Given the description of an element on the screen output the (x, y) to click on. 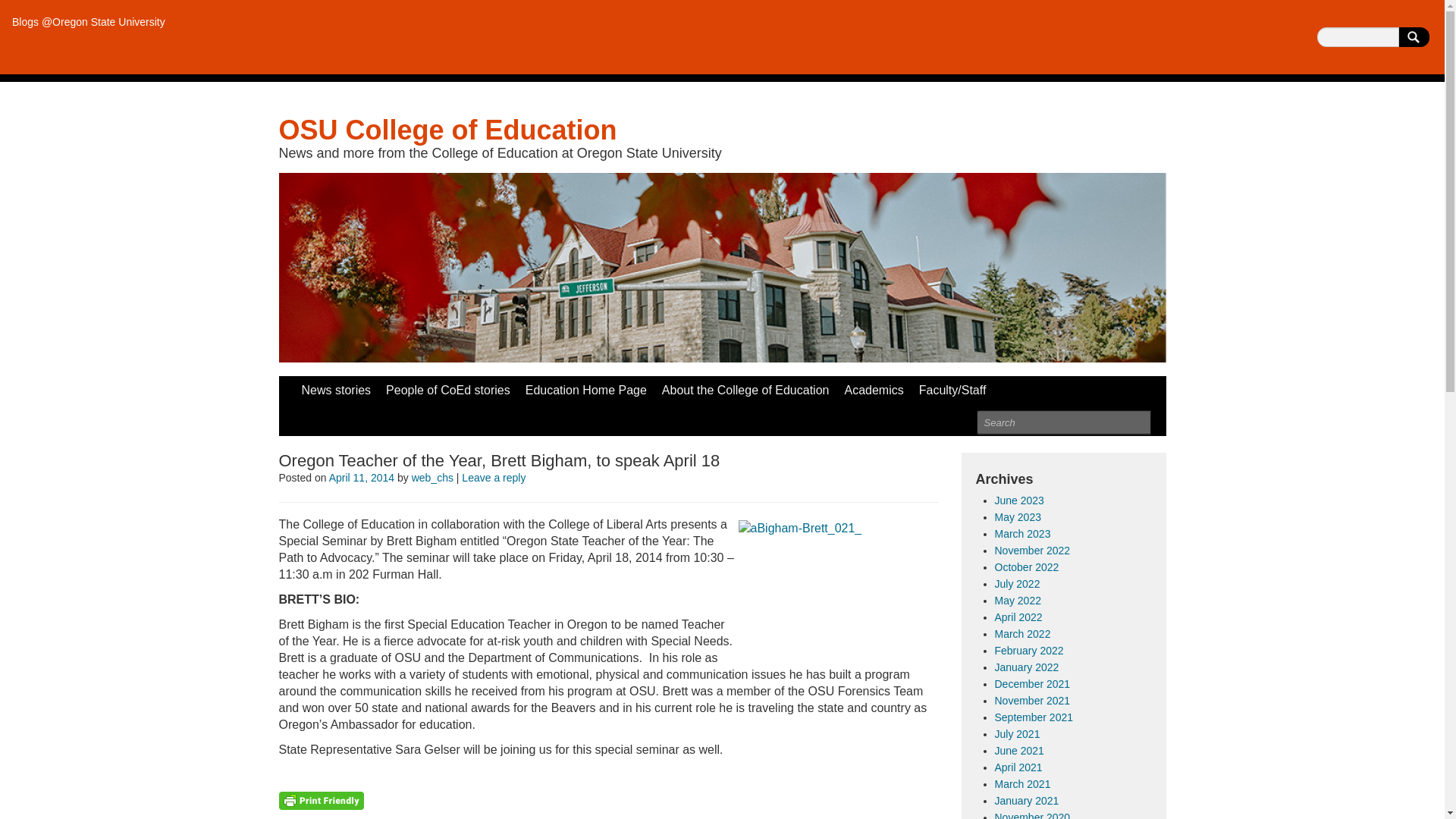
People of CoEd stories (448, 390)
May 2022 (1017, 600)
April 2022 (1018, 616)
Skip to secondary content (349, 384)
March 2023 (1022, 533)
Skip to secondary content (349, 384)
OSU College of Education (448, 129)
Skip to primary content (341, 384)
Leave a reply (493, 477)
Skip to primary content (341, 384)
